Given the description of an element on the screen output the (x, y) to click on. 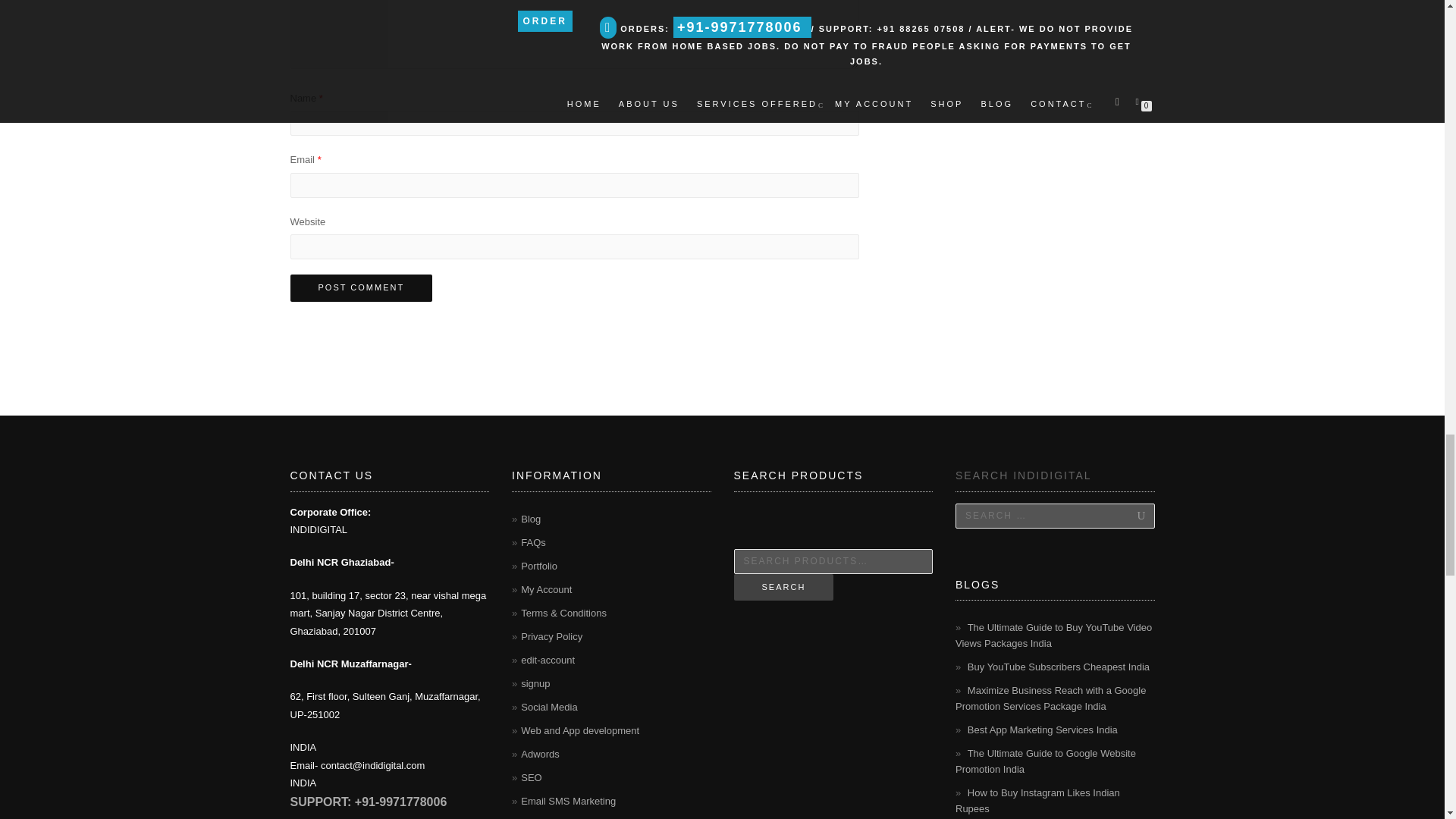
Search (783, 587)
Search (1125, 515)
Search (1125, 515)
Post Comment (360, 288)
